Given the description of an element on the screen output the (x, y) to click on. 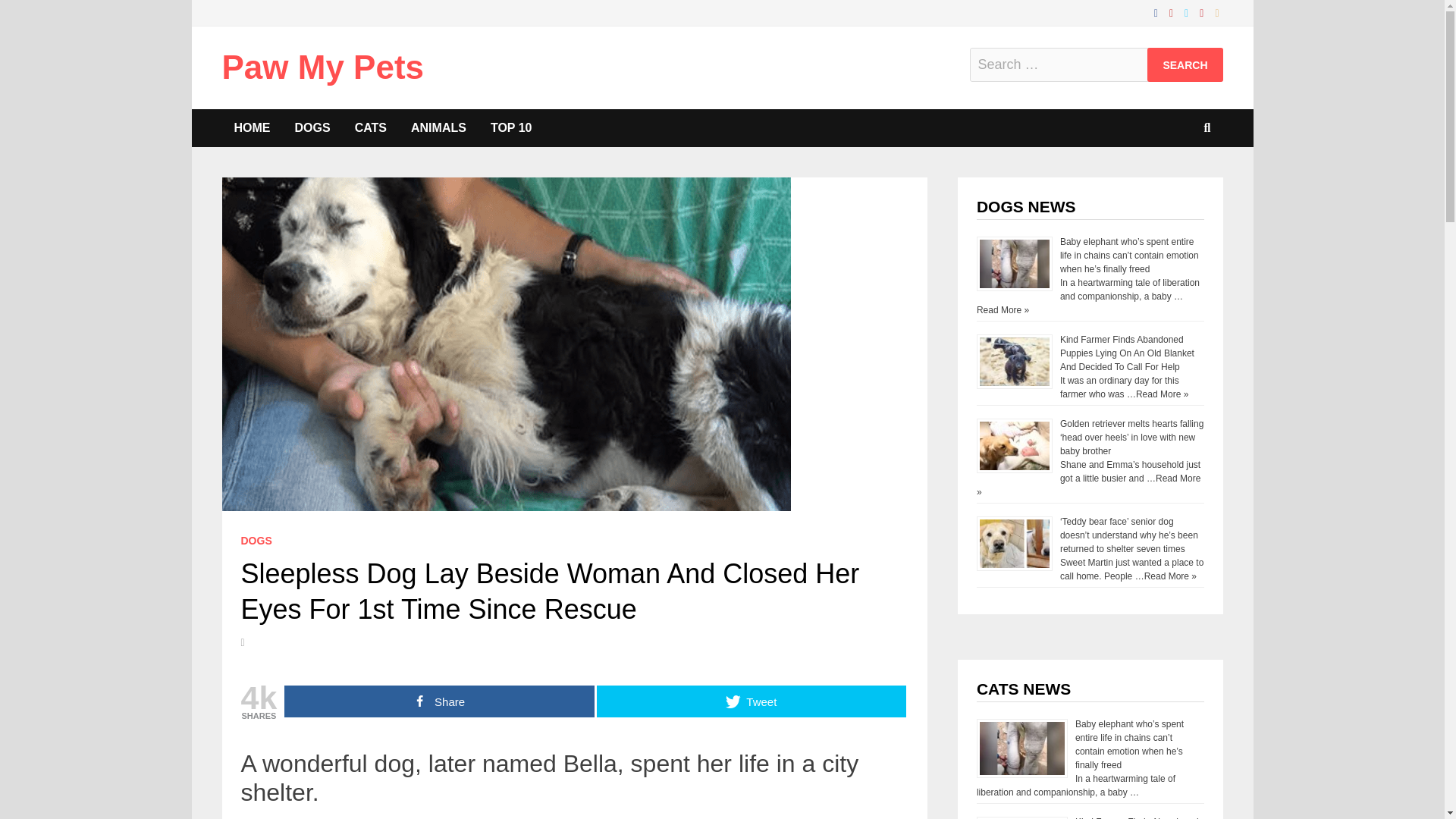
Paw My Pets (322, 66)
DOGS (256, 540)
Share (438, 701)
DOGS (312, 127)
Search (1185, 64)
Tweet (750, 701)
ANIMALS (438, 127)
Search (1185, 64)
Twitter (1187, 11)
HOME (251, 127)
